Given the description of an element on the screen output the (x, y) to click on. 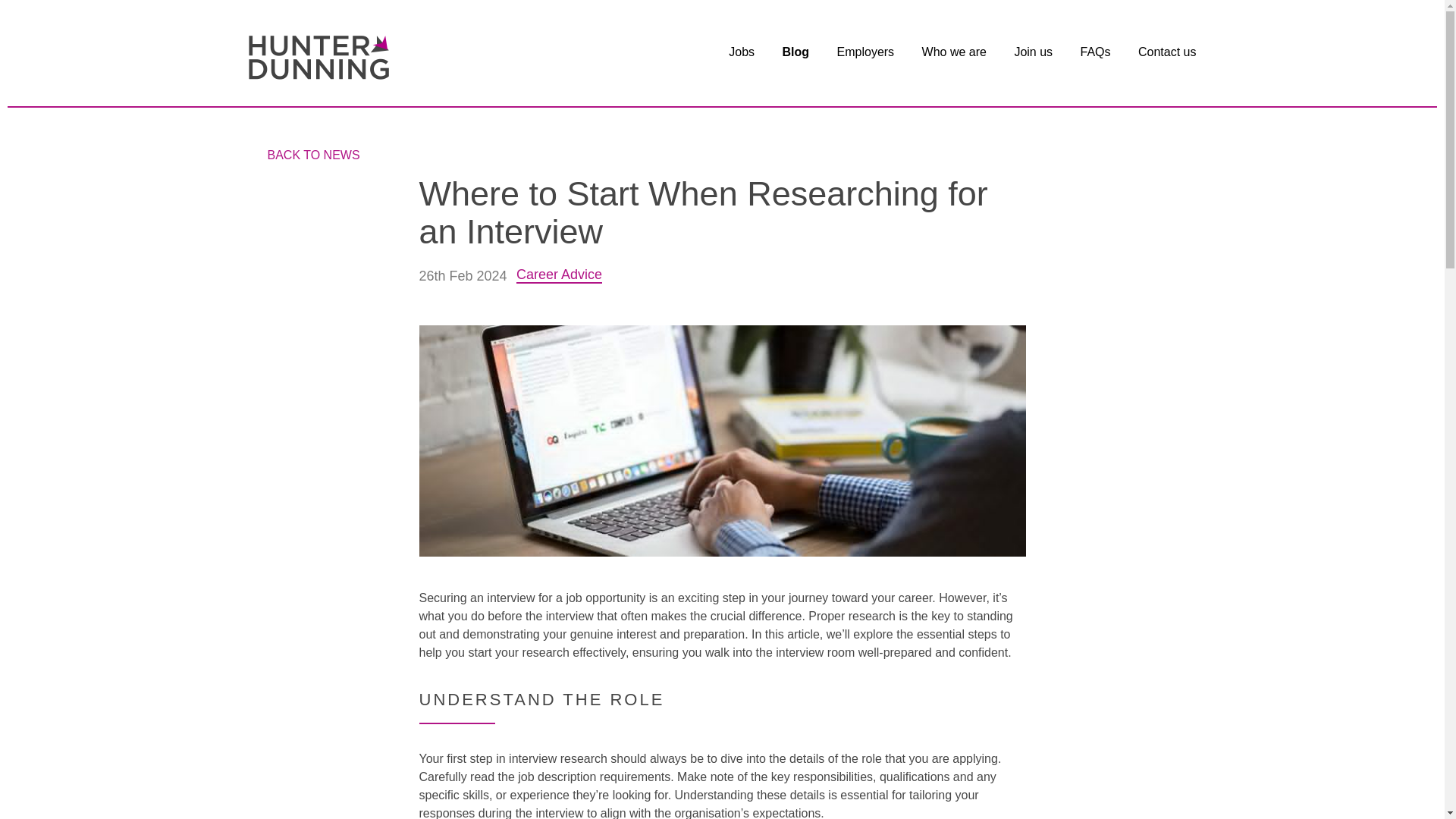
Contact us (1166, 54)
Jobs (741, 54)
Who we are (954, 54)
Blog (796, 54)
FAQs (1095, 54)
Employers (866, 54)
BACK TO NEWS (312, 155)
Join us (1032, 54)
Career Advice (559, 276)
